Given the description of an element on the screen output the (x, y) to click on. 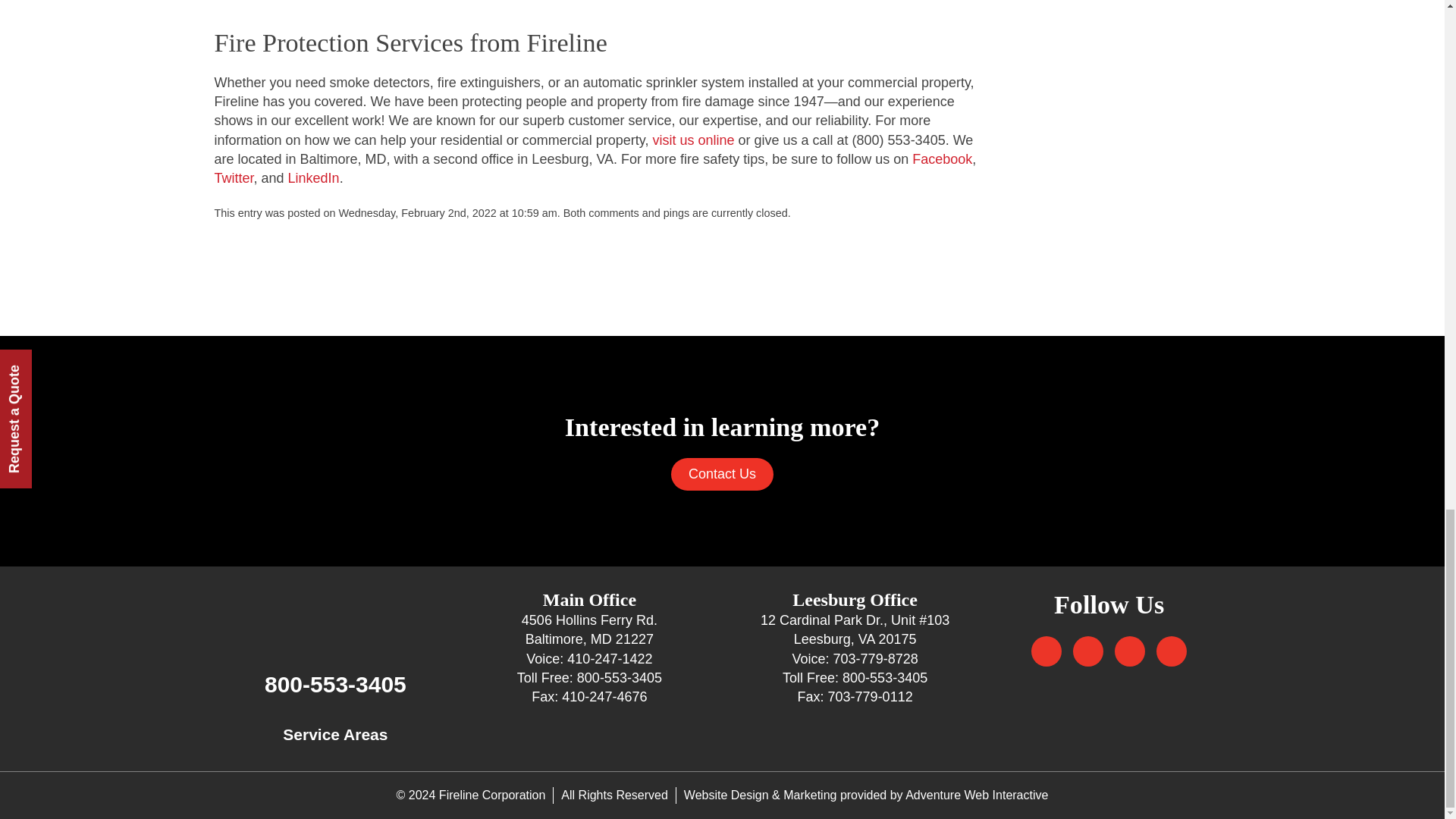
Fireline (335, 613)
